Given the description of an element on the screen output the (x, y) to click on. 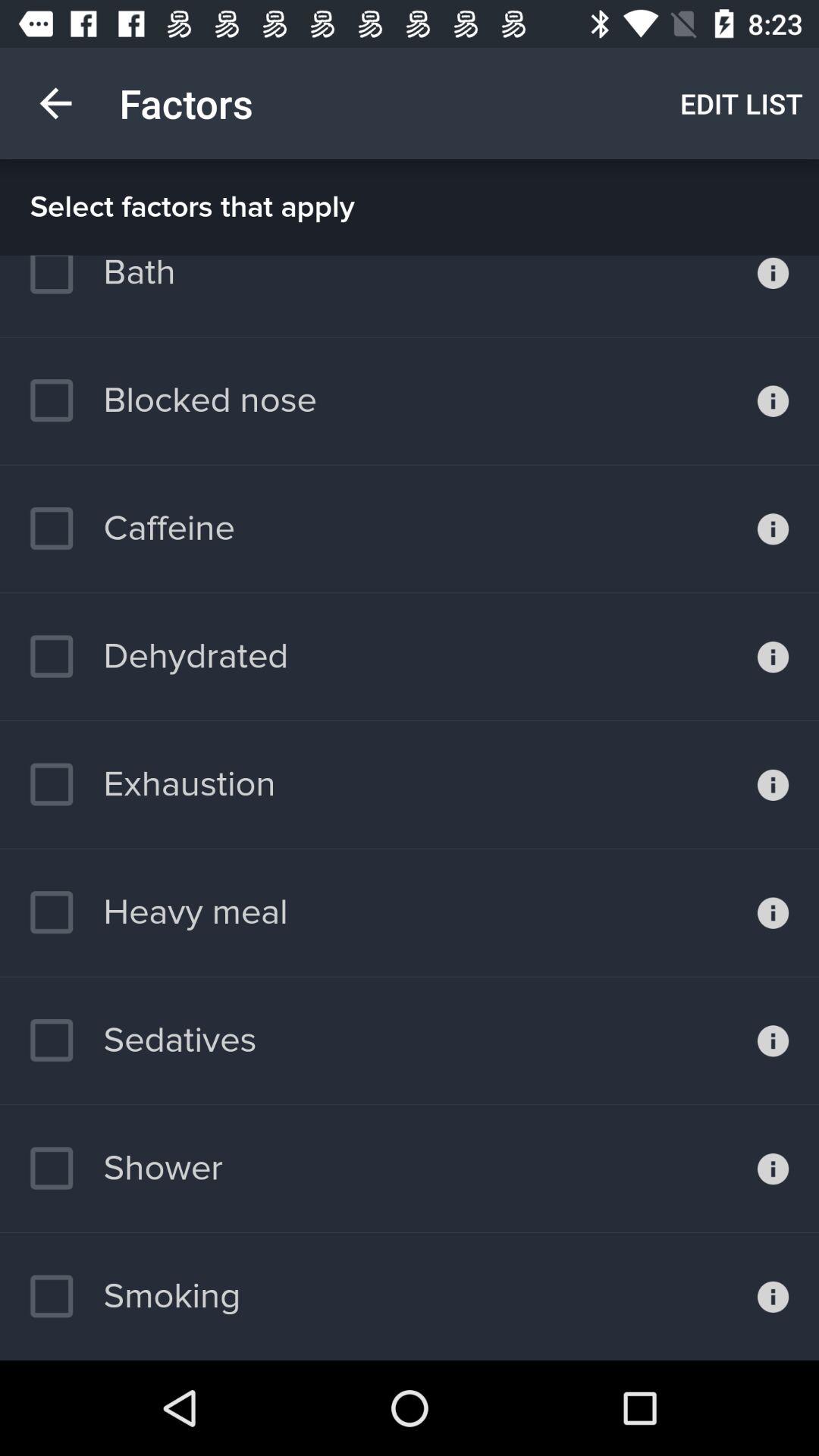
view information (773, 295)
